Given the description of an element on the screen output the (x, y) to click on. 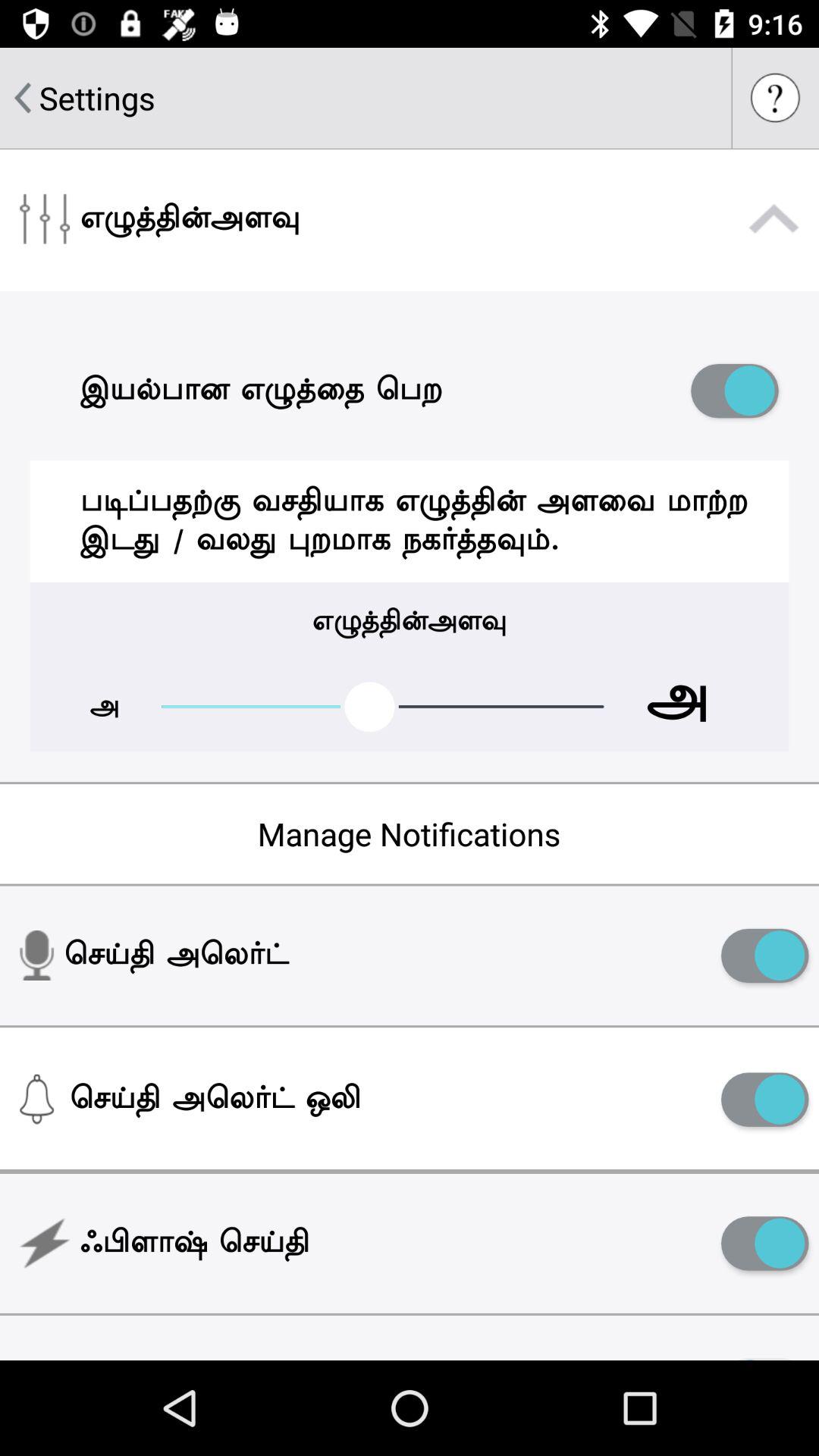
enable/disable setting (764, 1099)
